Given the description of an element on the screen output the (x, y) to click on. 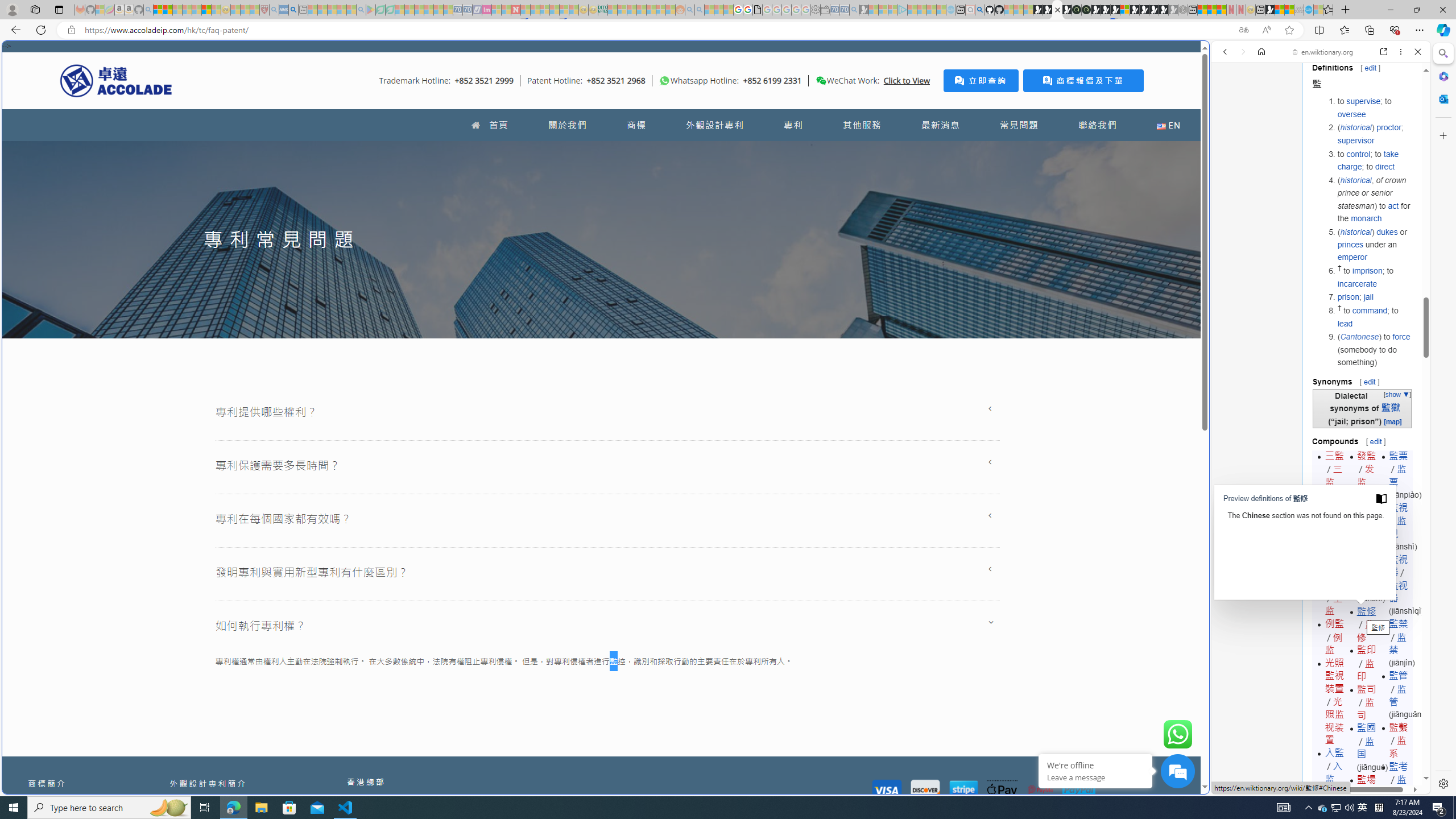
proctor (1387, 127)
(historical) proctor; supervisor (1374, 134)
force (1400, 336)
Show translate options (1243, 29)
imprison (1367, 271)
Accolade IP HK Logo (116, 80)
